Given the description of an element on the screen output the (x, y) to click on. 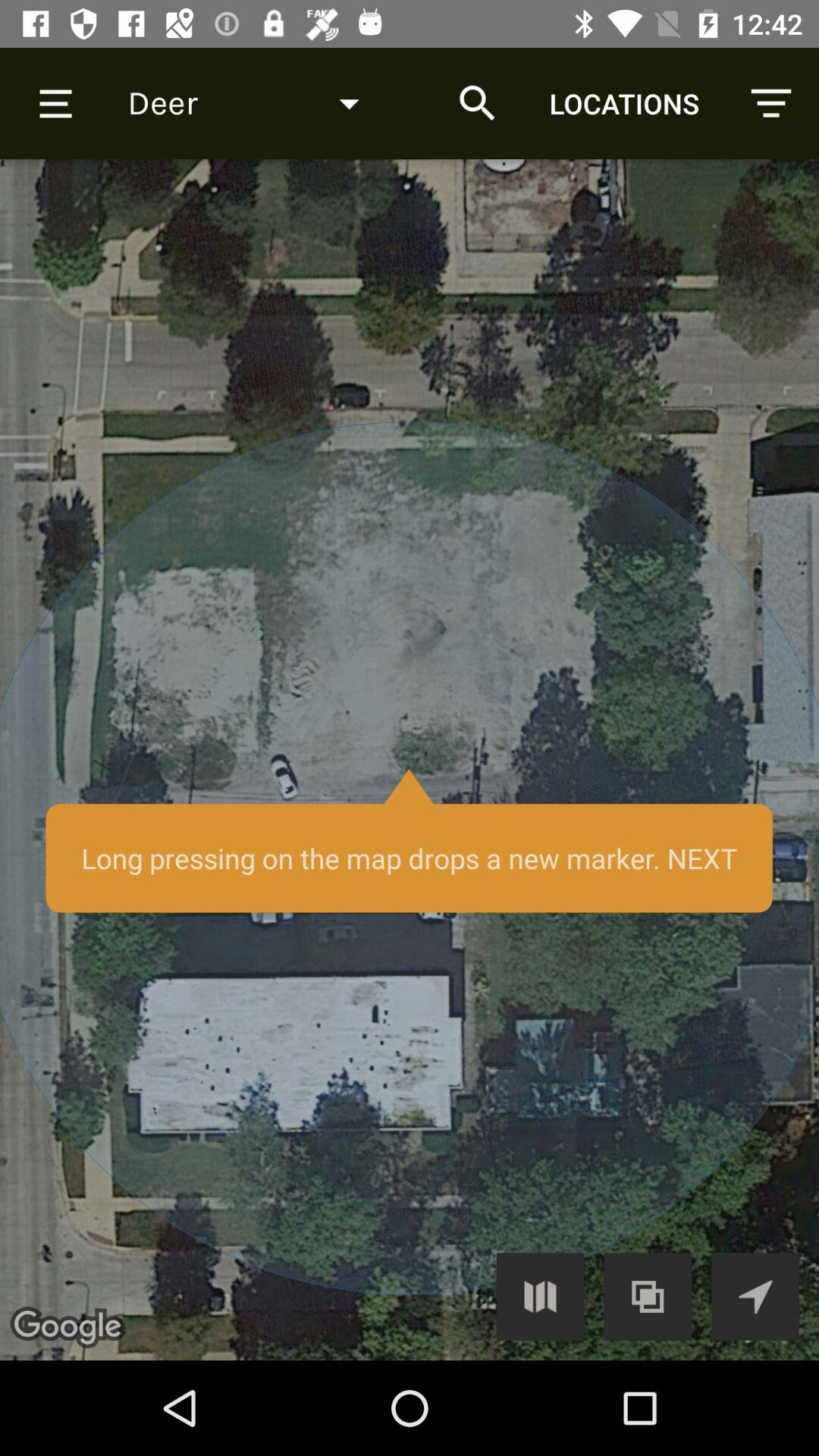
long press the map to add a marker (409, 759)
